Given the description of an element on the screen output the (x, y) to click on. 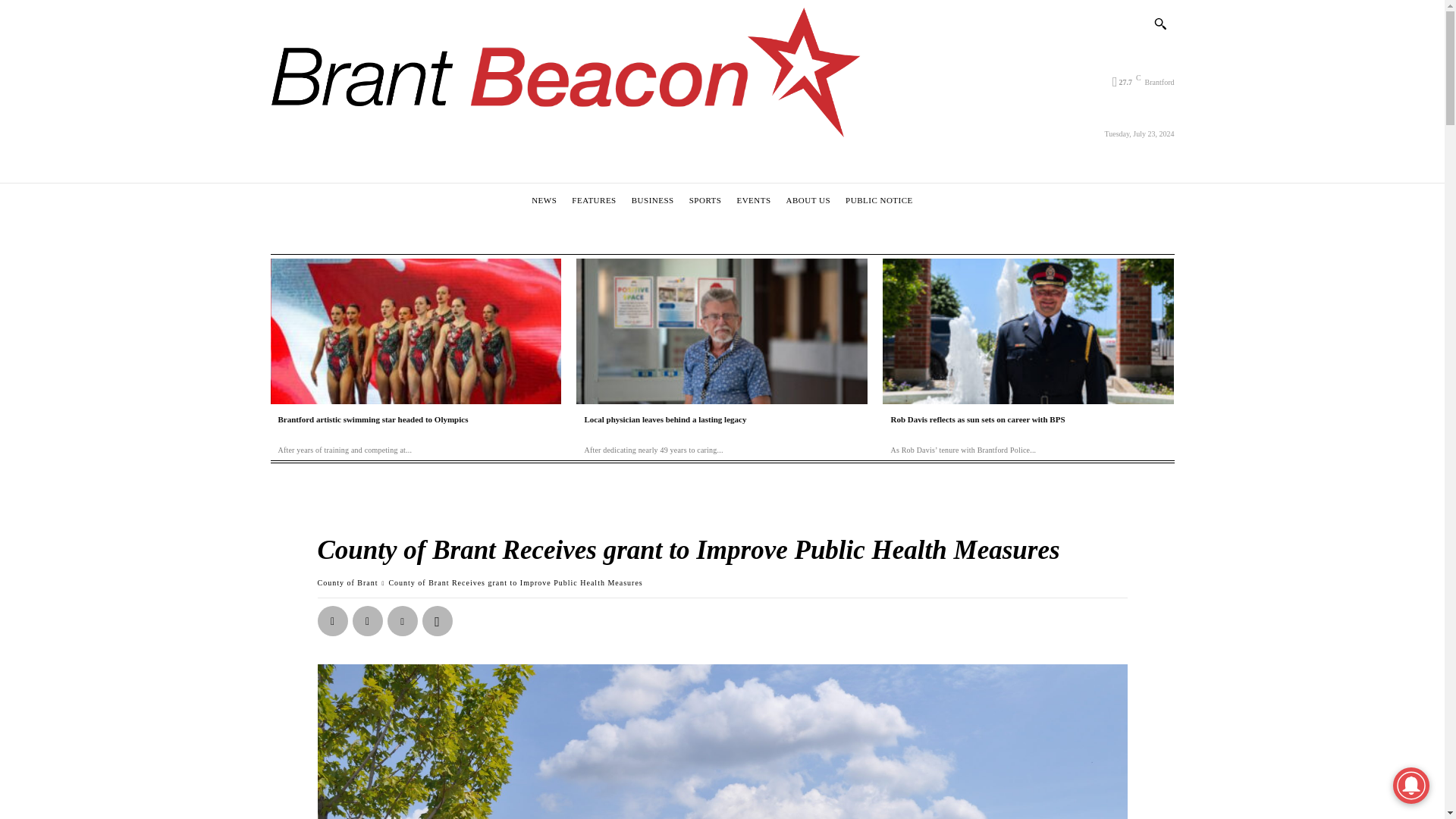
County of Brant (347, 582)
Pinterest (401, 621)
Rob Davis reflects as sun sets on career with BPS (976, 419)
Rob Davis reflects as sun sets on career with BPS (1027, 331)
NEWS (543, 199)
View all posts in County of Brant (347, 582)
Brantford artistic swimming star headed to Olympics (372, 419)
BUSINESS (652, 199)
SPORTS (705, 199)
WhatsApp (436, 621)
Local physician leaves behind a lasting legacy  (665, 419)
Rob Davis reflects as sun sets on career with BPS (976, 419)
Brantford artistic swimming star headed to Olympics (372, 419)
